Given the description of an element on the screen output the (x, y) to click on. 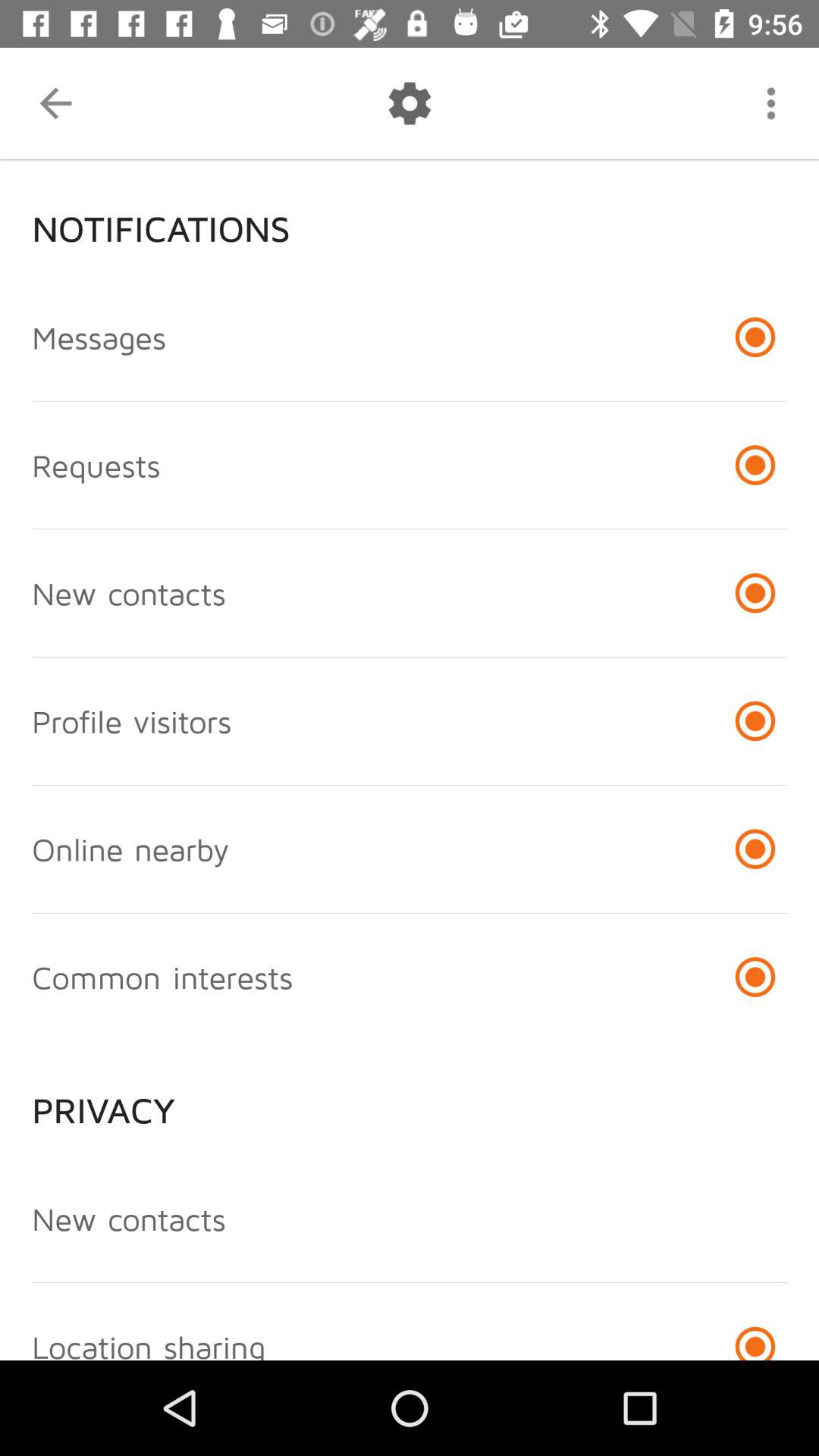
choose location sharing (148, 1343)
